Given the description of an element on the screen output the (x, y) to click on. 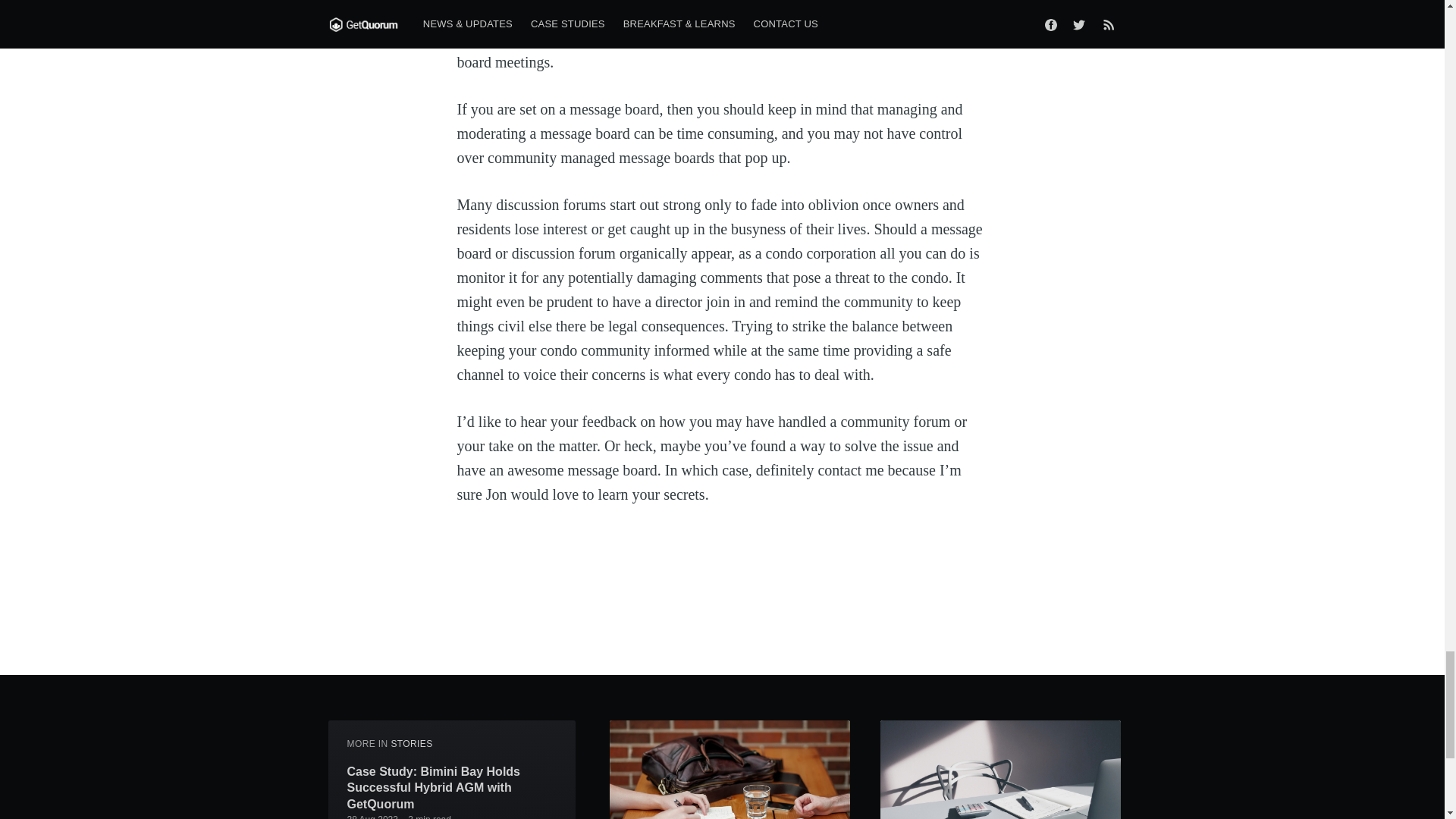
STORIES (411, 743)
